Given the description of an element on the screen output the (x, y) to click on. 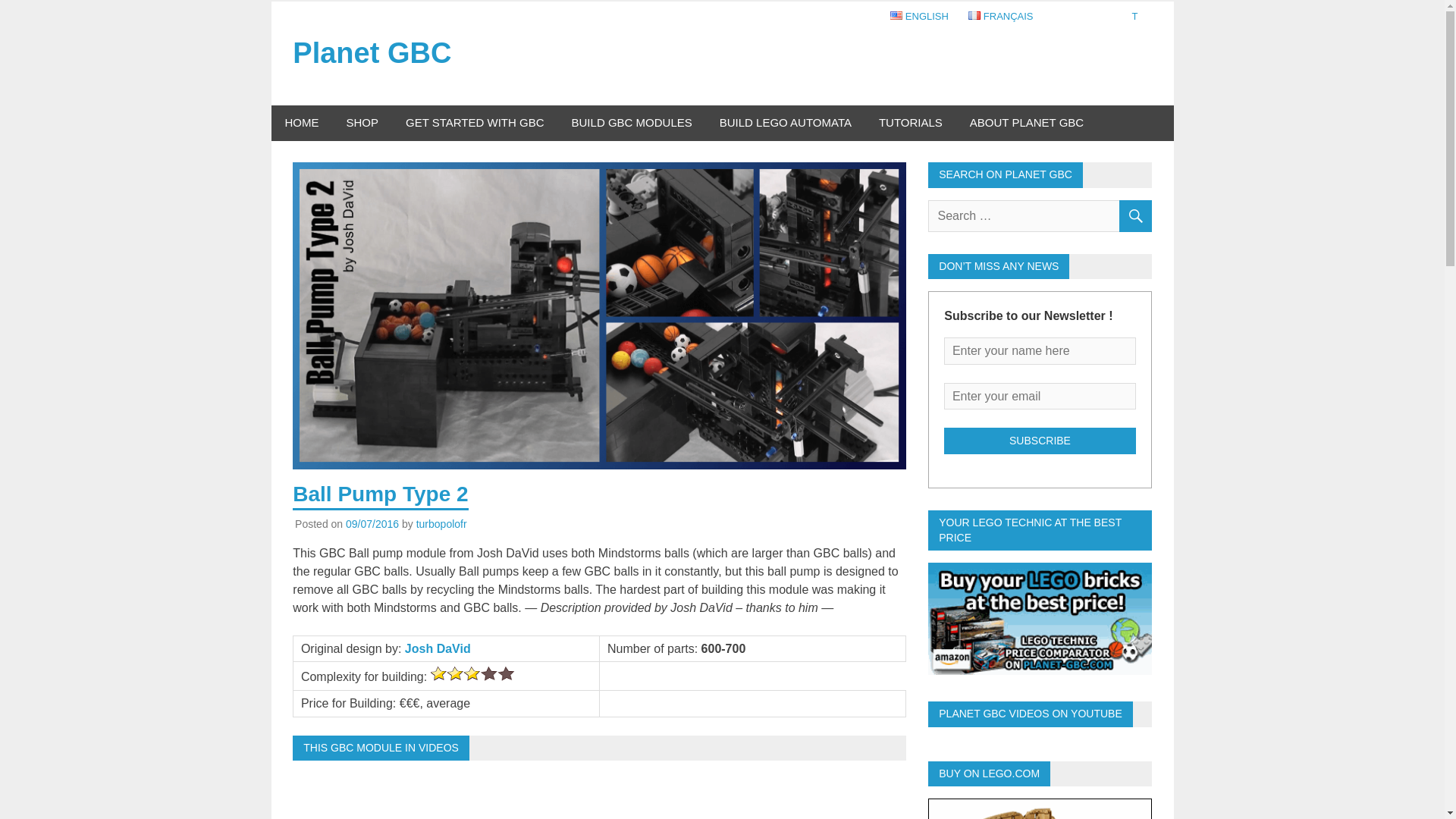
Buy Colosseum on the official LEGO Shop (1039, 809)
SUBSCRIBE (1039, 440)
Planet GBC (371, 52)
HOME (301, 122)
View all posts by turbopolofr (441, 523)
GET STARTED WITH GBC (474, 122)
ENGLISH (919, 16)
SHOP (361, 122)
BUILD LEGO AUTOMATA (785, 122)
BUILD GBC MODULES (631, 122)
21:38 (372, 523)
